Given the description of an element on the screen output the (x, y) to click on. 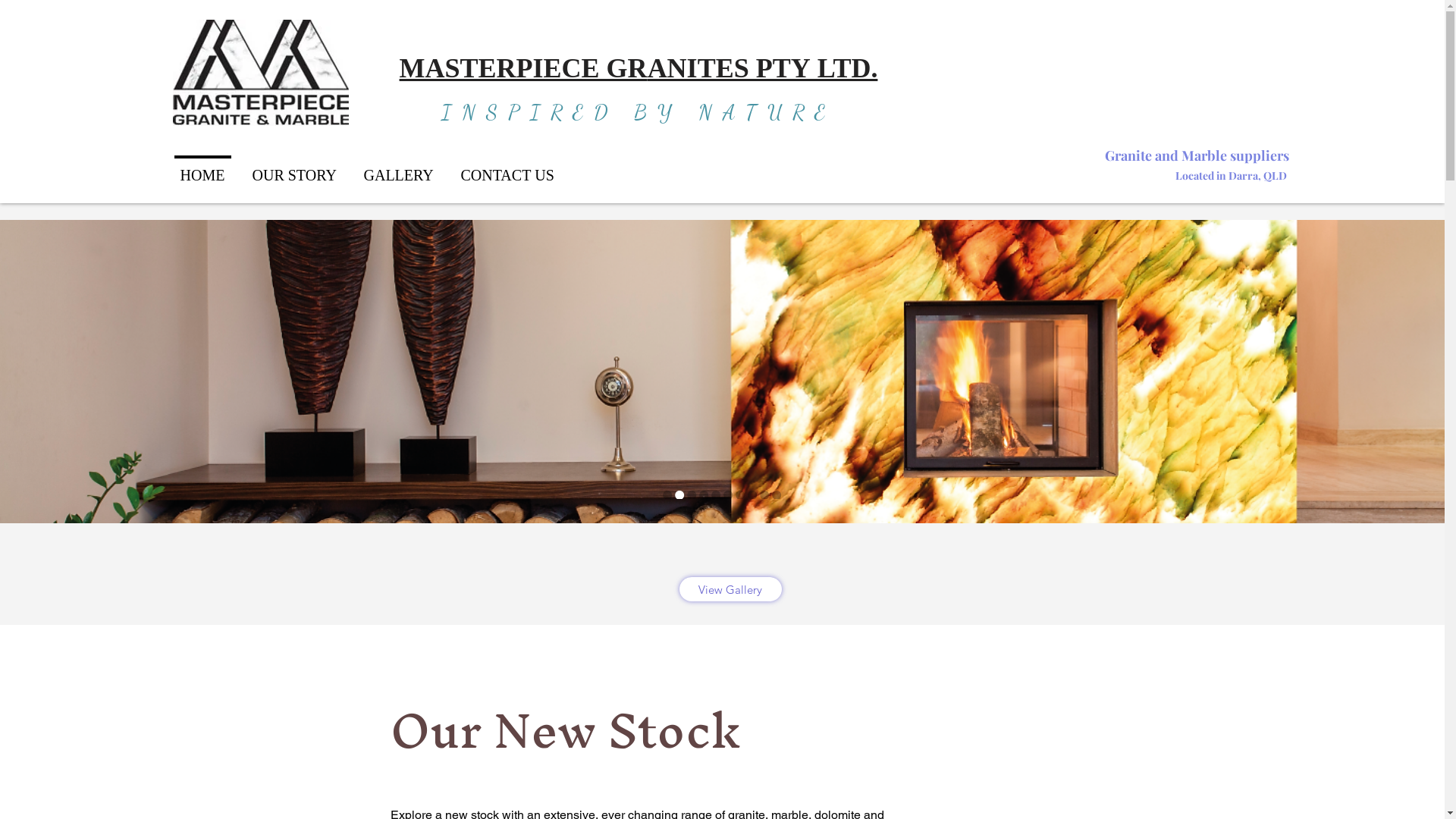
GALLERY Element type: text (398, 169)
OUR STORY Element type: text (293, 169)
MASTERPIECE GR Element type: text (523, 70)
View Gallery Element type: text (730, 589)
CONTACT US Element type: text (507, 169)
ANITES PTY LTD. Element type: text (762, 70)
HOME Element type: text (202, 169)
